Given the description of an element on the screen output the (x, y) to click on. 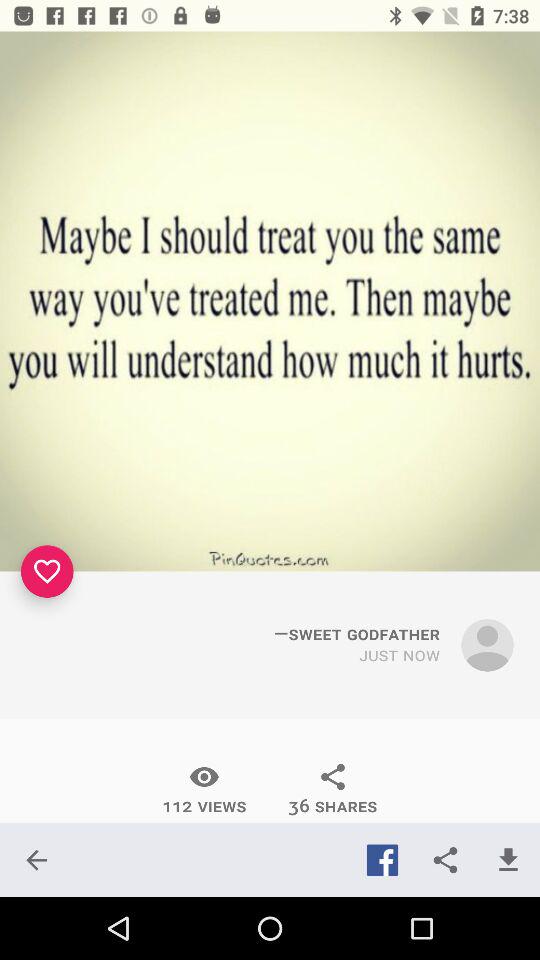
flip until the just now (399, 655)
